Given the description of an element on the screen output the (x, y) to click on. 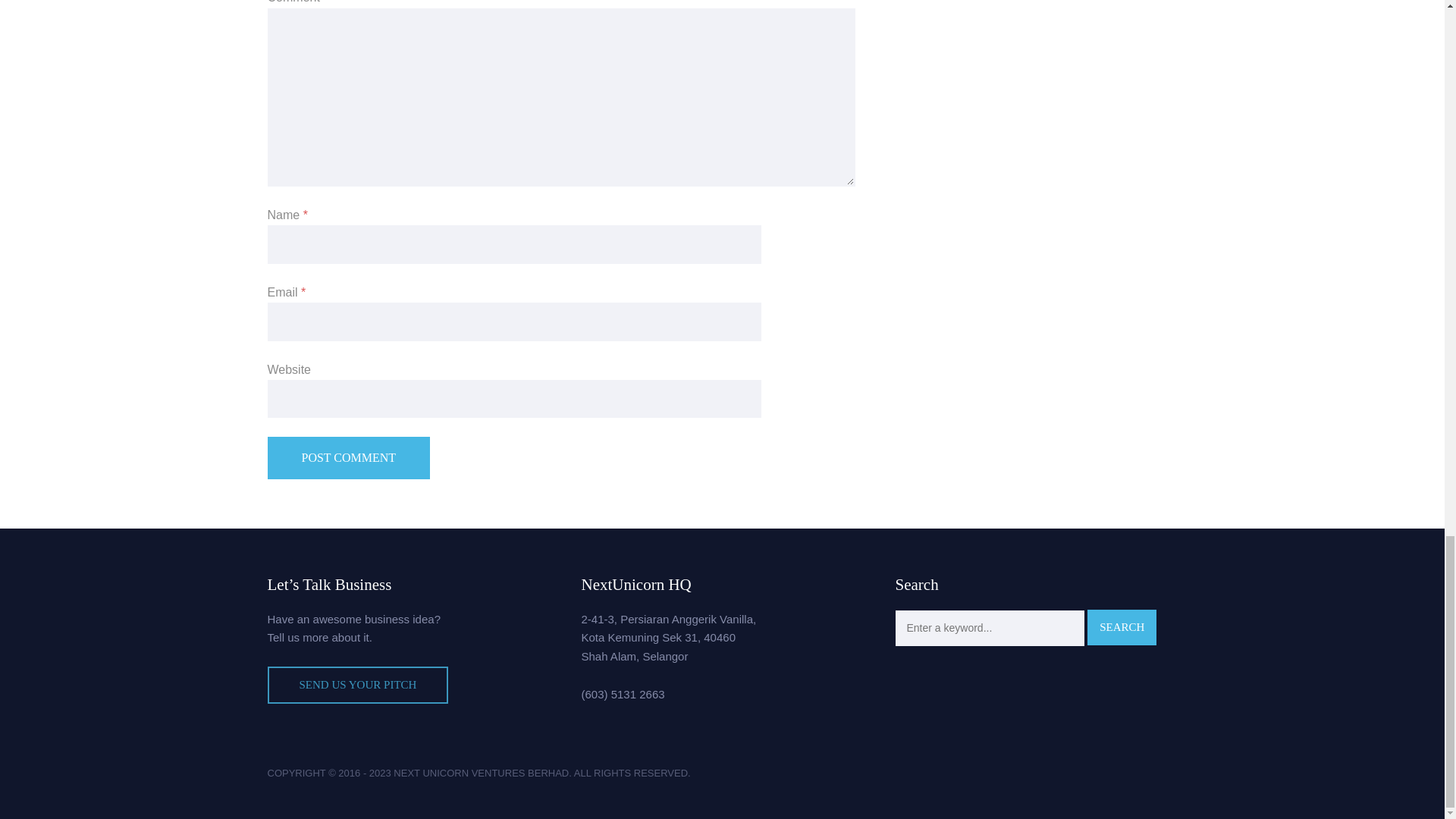
Search (1121, 627)
Post Comment (347, 457)
Post Comment (347, 457)
Search (1121, 627)
